Given the description of an element on the screen output the (x, y) to click on. 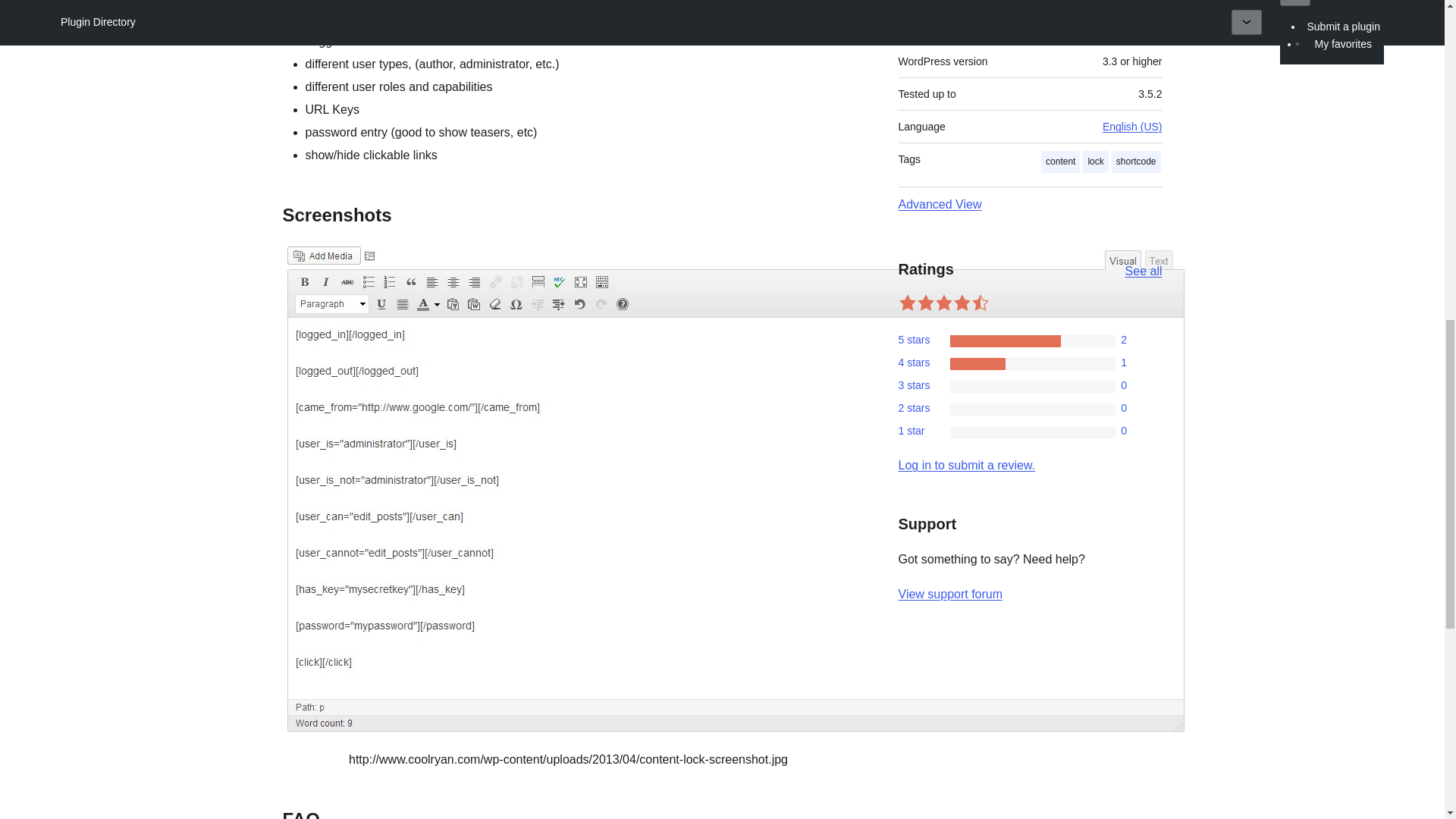
Log in to WordPress.org (966, 464)
